Given the description of an element on the screen output the (x, y) to click on. 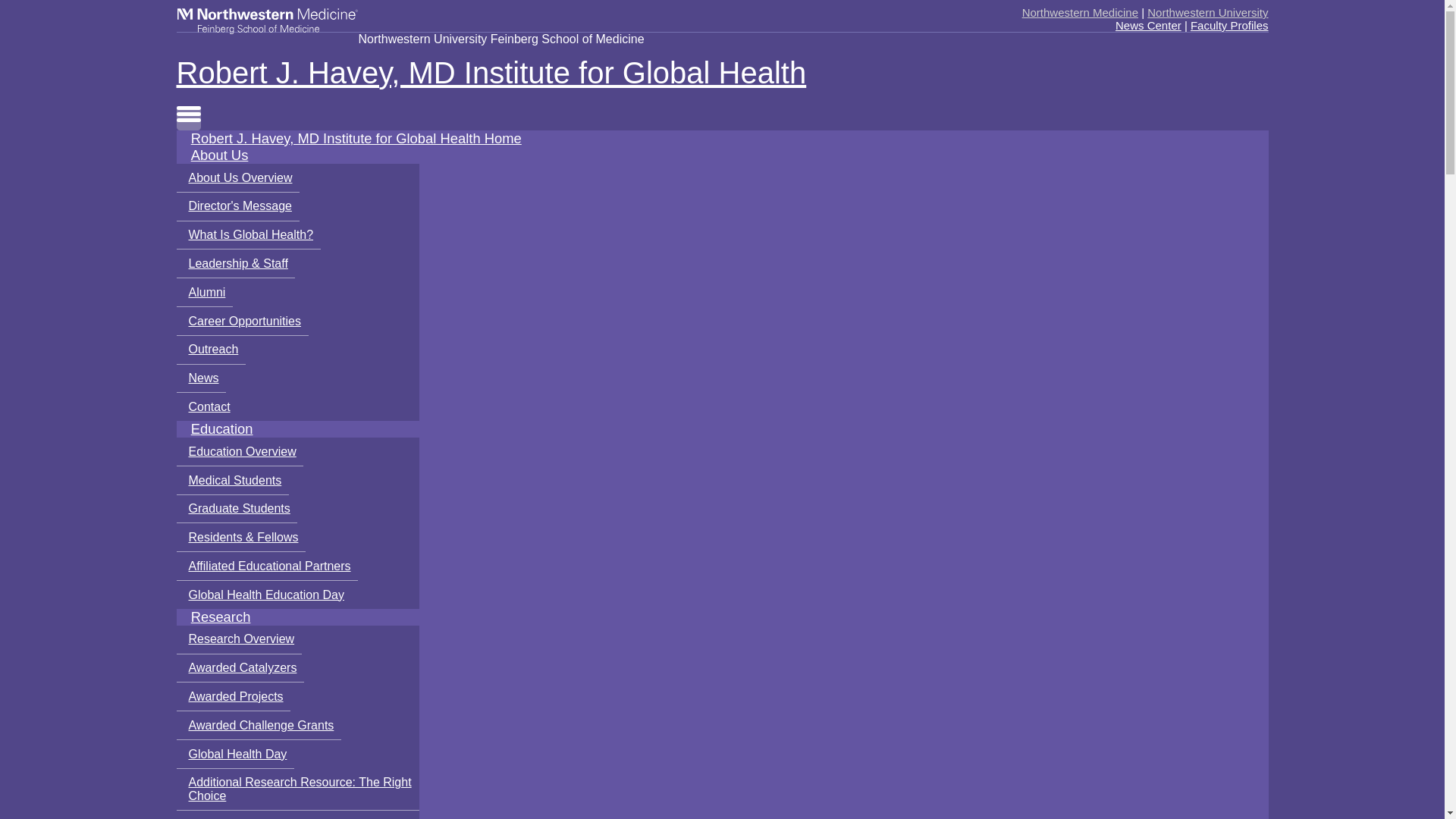
Research (220, 616)
Director's Message (237, 206)
Outreach (210, 349)
Feinberg School of Medicine (267, 20)
Directors' Discretionary Fund (263, 814)
Awarded Projects (232, 696)
Awarded Catalyzers (239, 668)
News (200, 378)
Career Opportunities (241, 321)
Contact (206, 406)
